Given the description of an element on the screen output the (x, y) to click on. 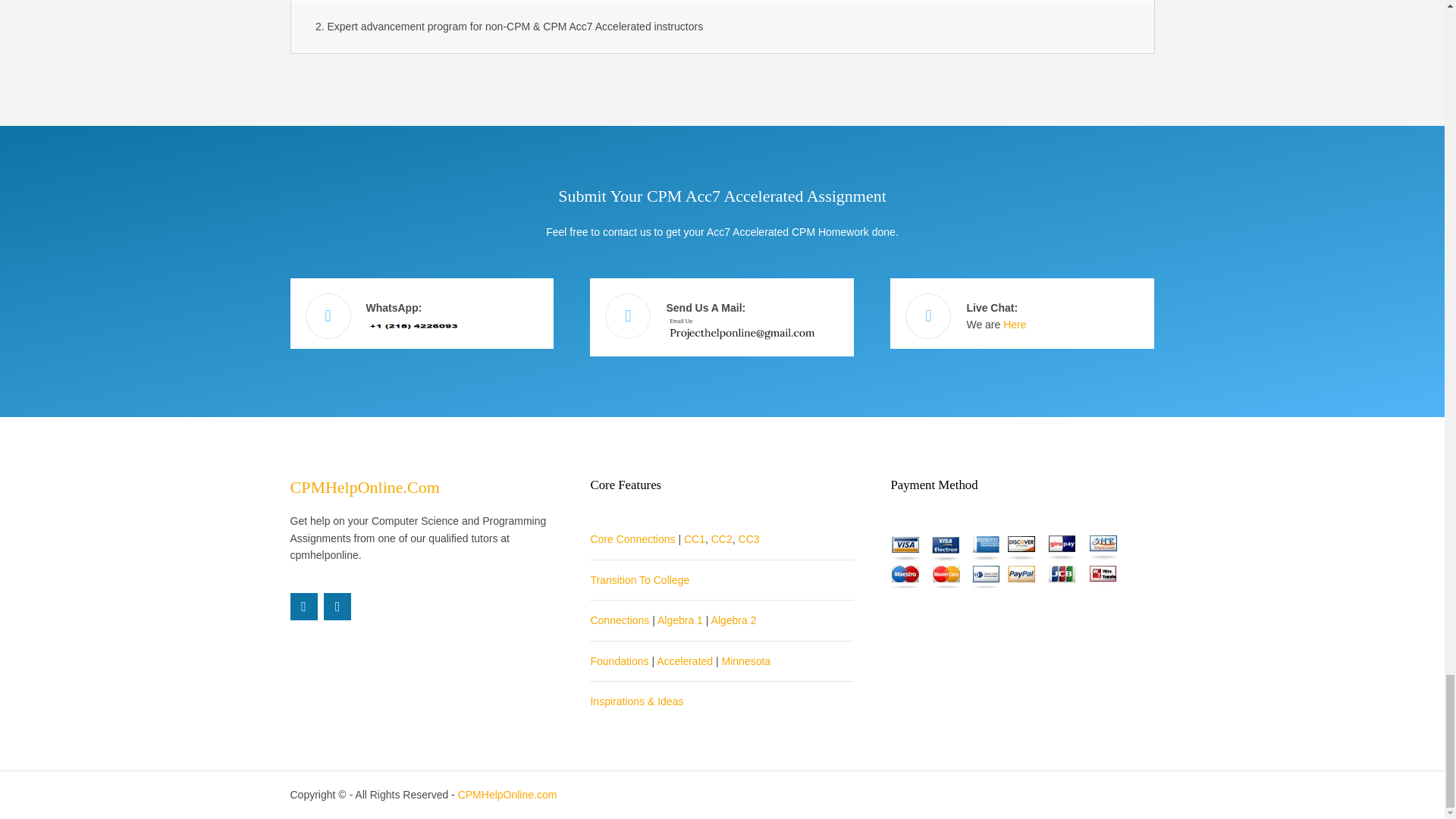
Minnesota (746, 661)
Accelerated (684, 661)
CC2 (721, 539)
Algebra 2 (734, 620)
CPMHelpOnline.com (507, 794)
Foundations (618, 661)
Core Connections (632, 539)
Here (1014, 324)
CC1 (694, 539)
Algebra 1 (680, 620)
Connections (619, 620)
CPMHelpOnline.Com (364, 486)
Transition To College (638, 580)
CC3 (749, 539)
